Given the description of an element on the screen output the (x, y) to click on. 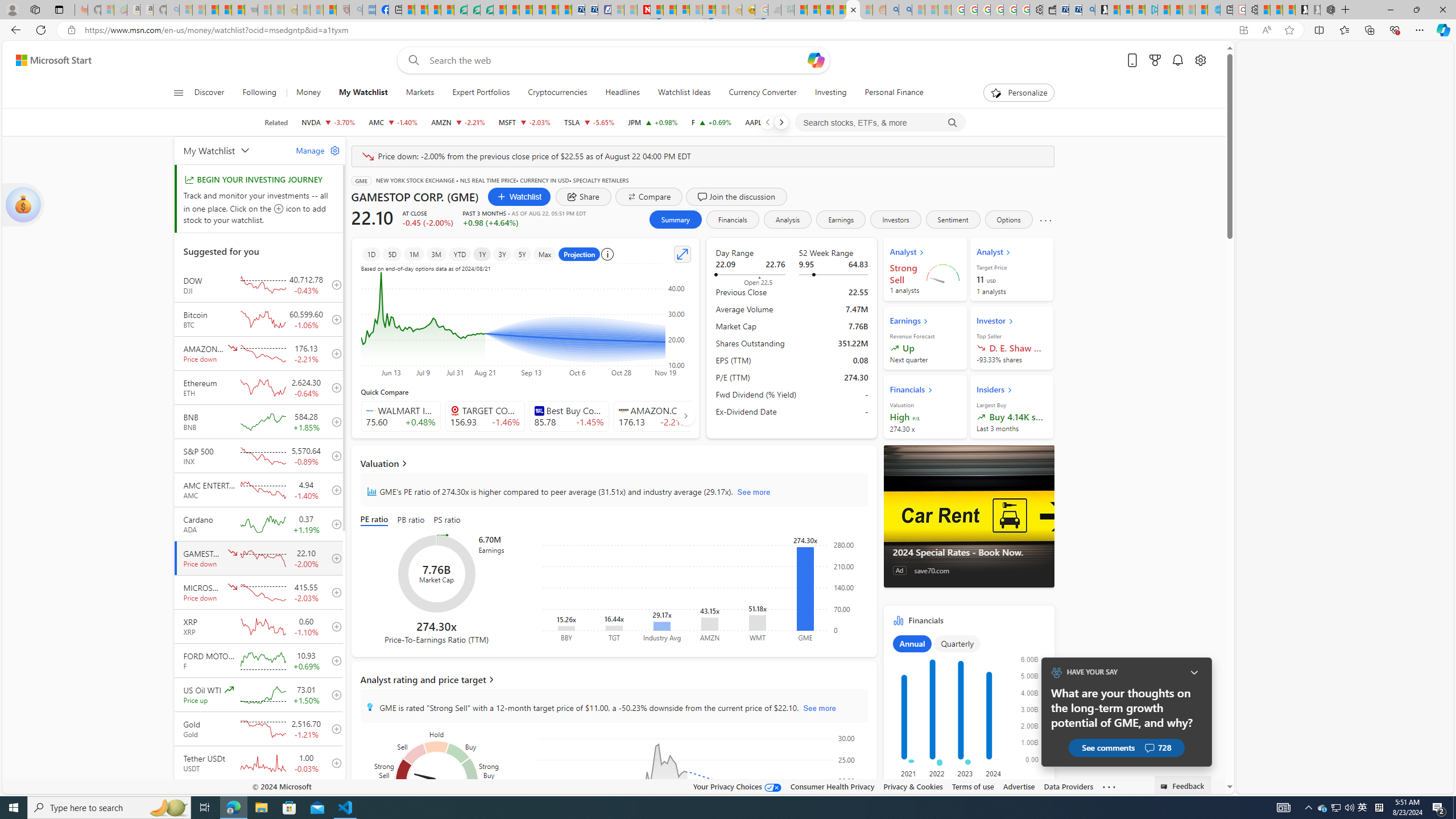
Valuation (613, 463)
App available. Install Start Money (1243, 29)
